Given the description of an element on the screen output the (x, y) to click on. 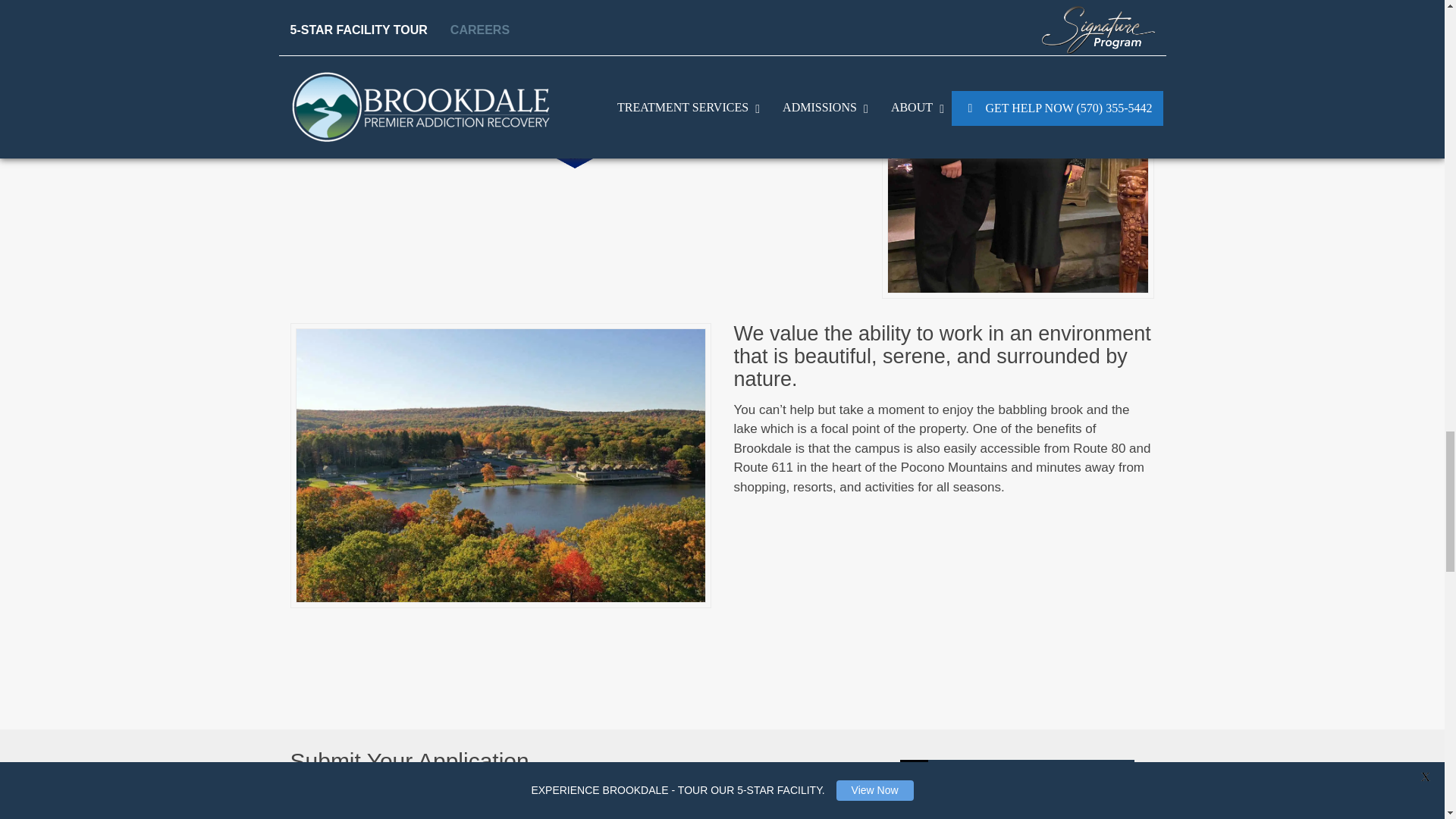
View All Jobs (1017, 776)
VIEW CURRENT OPENINGS (1017, 776)
